Given the description of an element on the screen output the (x, y) to click on. 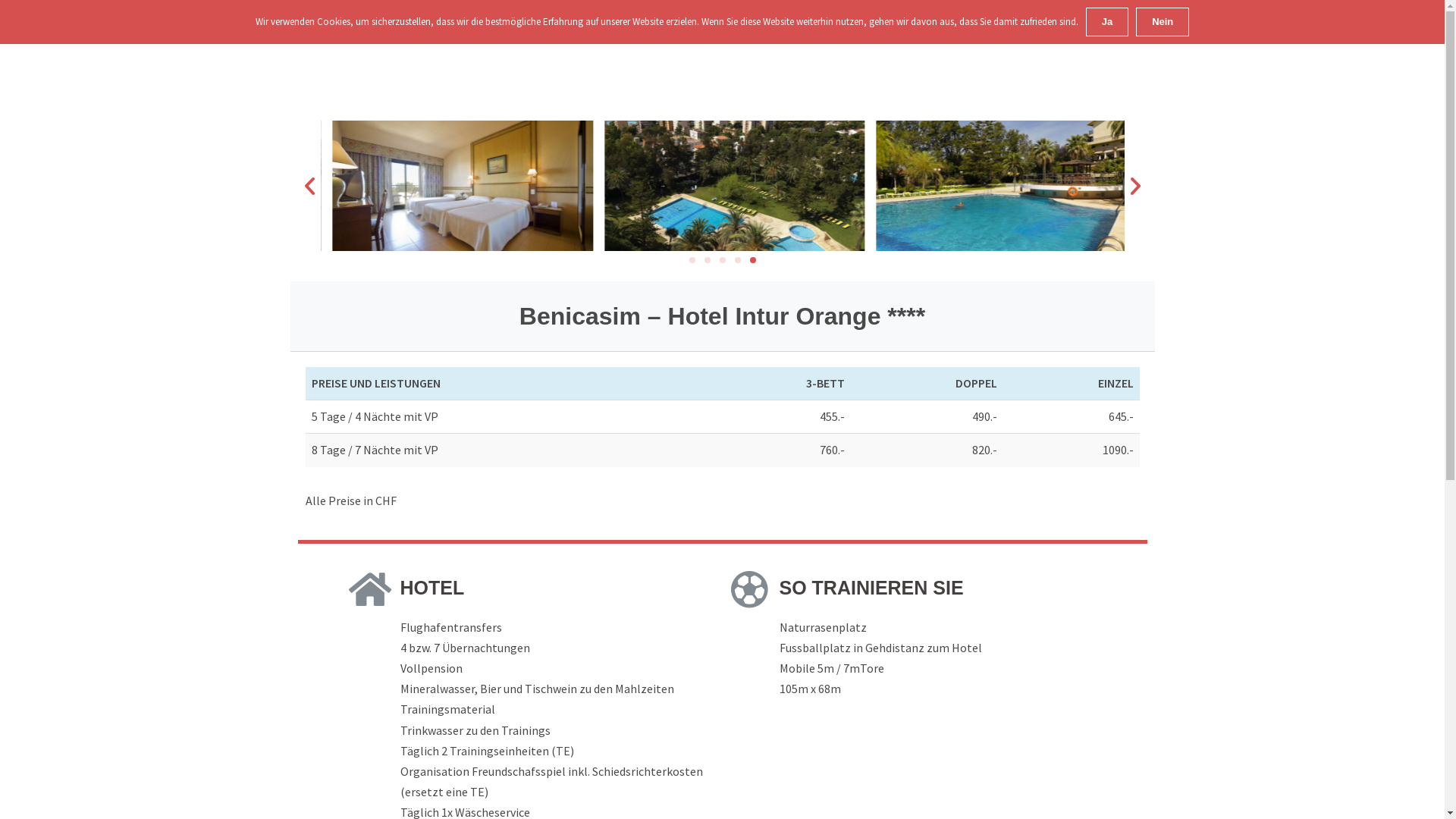
DIENSTLEISTUNGEN Element type: text (683, 35)
HOME Element type: text (592, 35)
Ja Element type: text (1106, 21)
ANGEBOT Element type: text (783, 35)
KUNDENMEINUNGEN Element type: text (962, 35)
GALERIE Element type: text (1132, 35)
KONTAKT Element type: text (1063, 35)
Nein Element type: text (1162, 21)
C&M SPORTREISEN Element type: hover (343, 27)
